Given the description of an element on the screen output the (x, y) to click on. 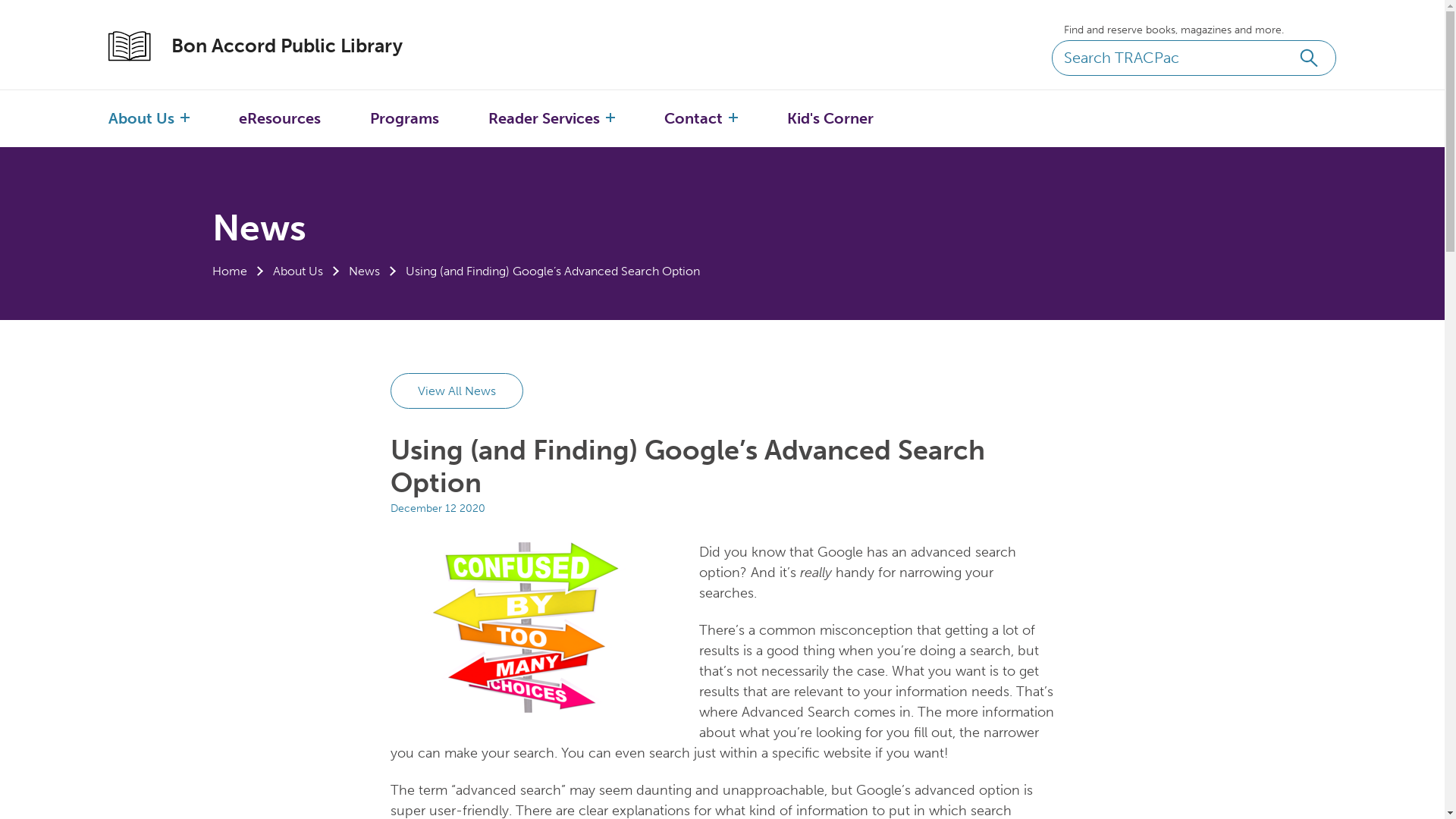
Kid's Corner Element type: text (830, 118)
Contact Element type: text (693, 118)
Reader Services Element type: text (543, 118)
Programs Element type: text (404, 118)
View All News Element type: text (456, 390)
About Us Element type: text (298, 270)
eResources Element type: text (279, 118)
About Us Element type: text (141, 118)
News Element type: text (363, 270)
Home Element type: text (229, 270)
Bon Accord Public Library Element type: text (270, 46)
